Given the description of an element on the screen output the (x, y) to click on. 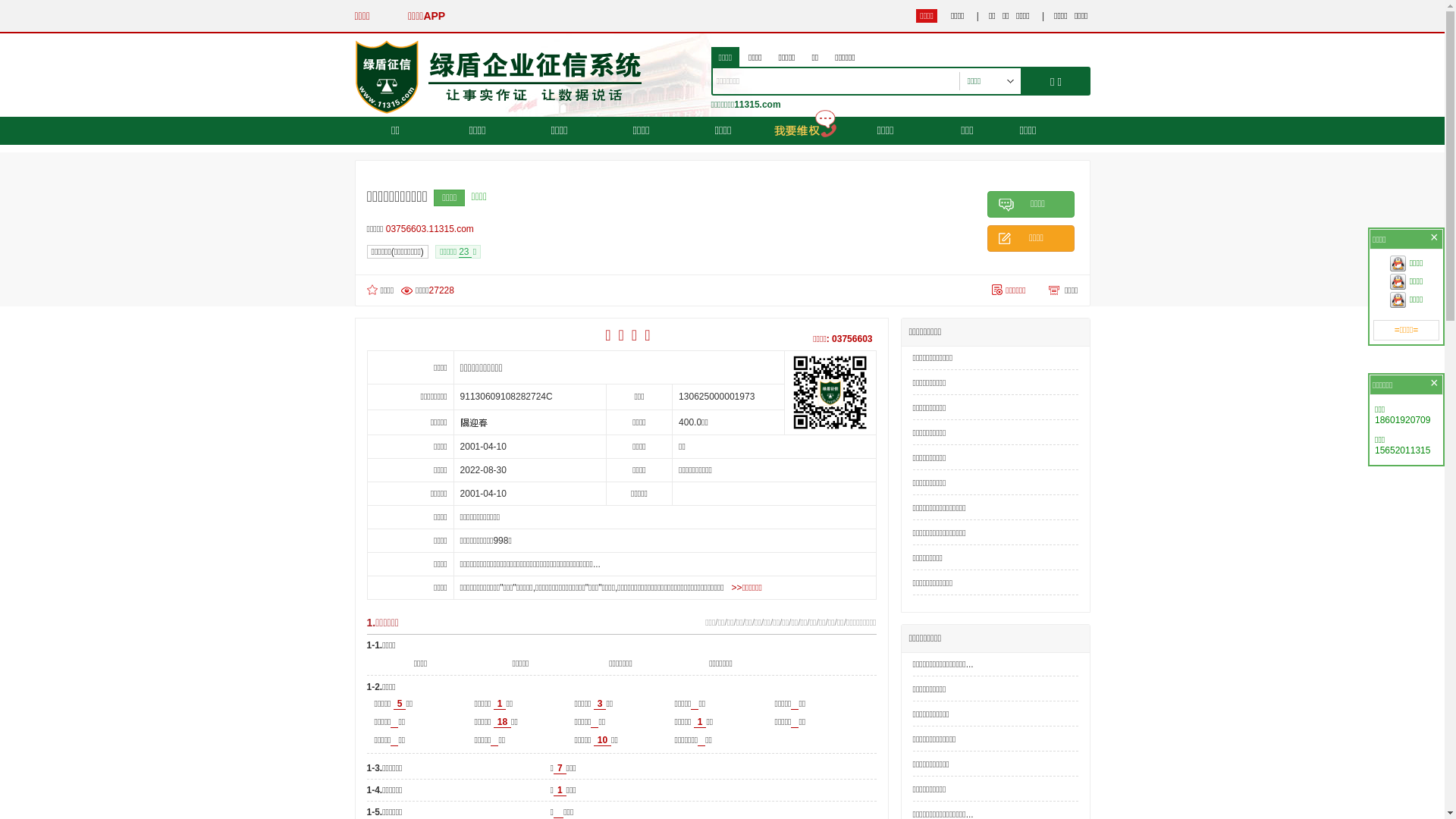
1 Element type: text (699, 722)
7 Element type: text (559, 768)
5 Element type: text (399, 703)
3 Element type: text (599, 703)
18 Element type: text (502, 722)
1 Element type: text (499, 703)
1 Element type: text (559, 790)
10 Element type: text (602, 740)
  Element type: text (558, 812)
03756603.11315.com Element type: text (433, 228)
